Given the description of an element on the screen output the (x, y) to click on. 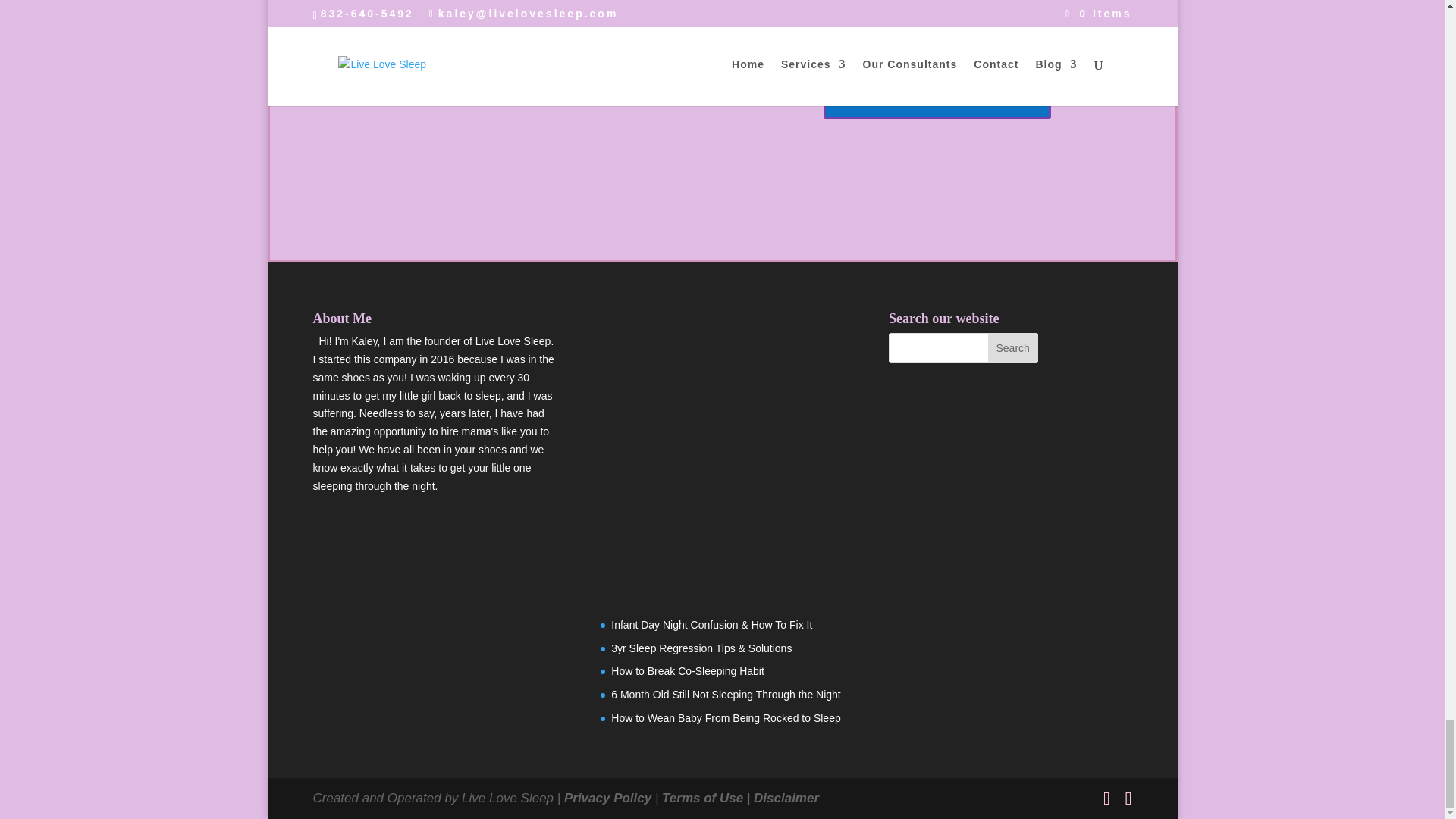
Search (1013, 347)
Search (1013, 347)
How to Break Co-Sleeping Habit (687, 671)
Get Access - Now! (937, 98)
Free Access (584, 99)
6 Month Old Still Not Sleeping Through the Night (725, 694)
How to Wean Baby From Being Rocked to Sleep (725, 717)
